Given the description of an element on the screen output the (x, y) to click on. 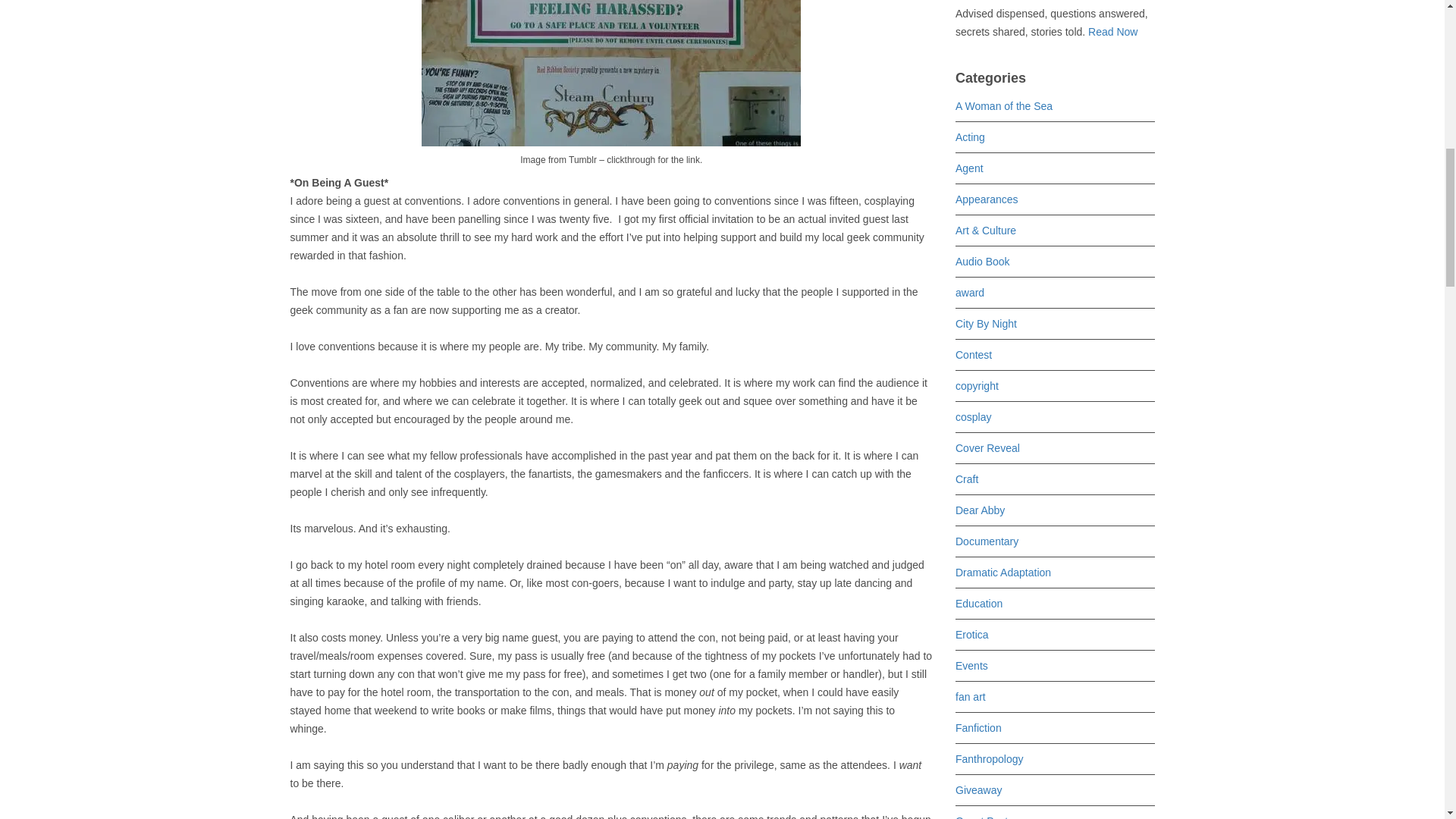
Read Now (1112, 31)
